Given the description of an element on the screen output the (x, y) to click on. 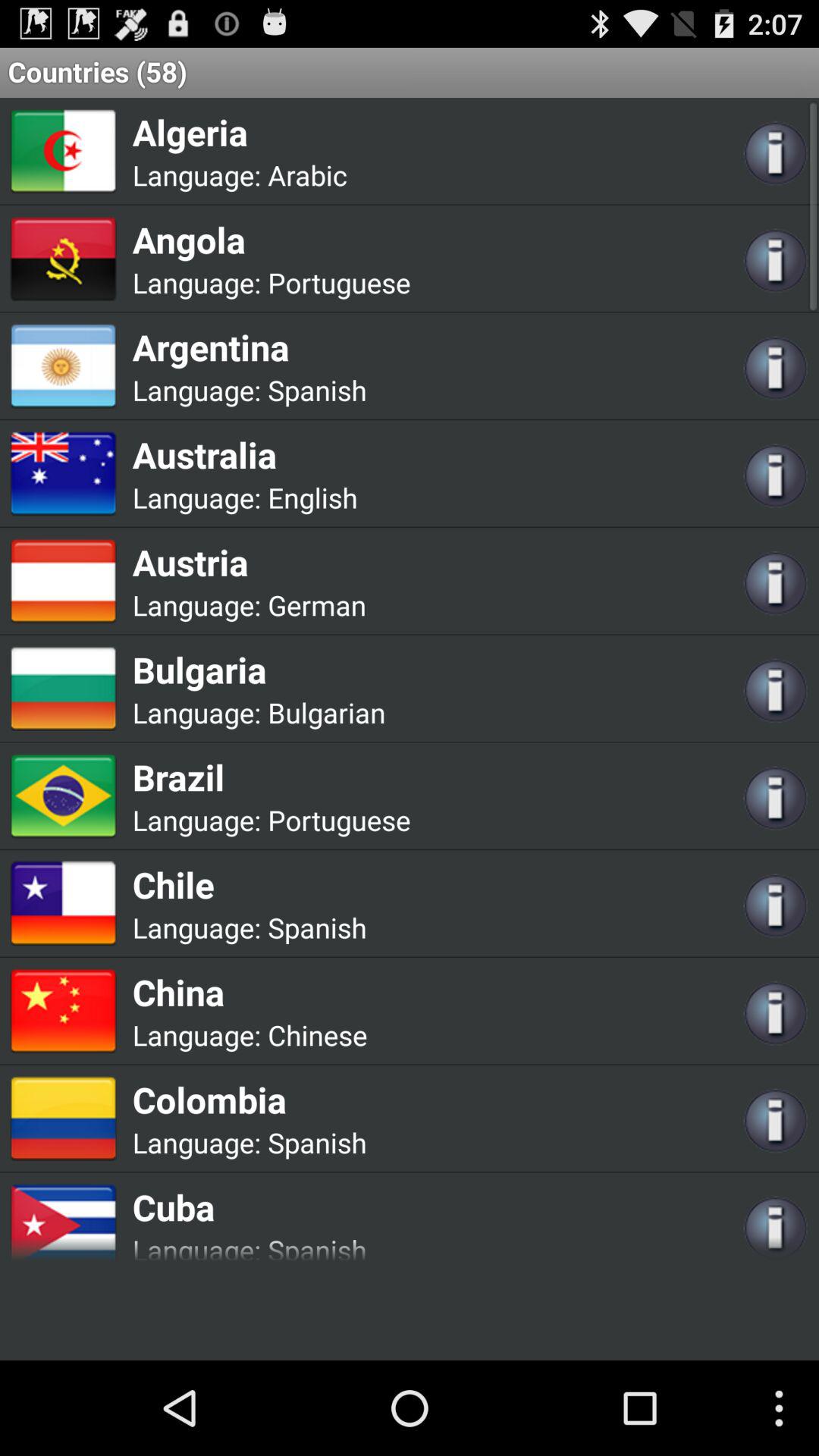
tap the bulgarian app (326, 712)
